Given the description of an element on the screen output the (x, y) to click on. 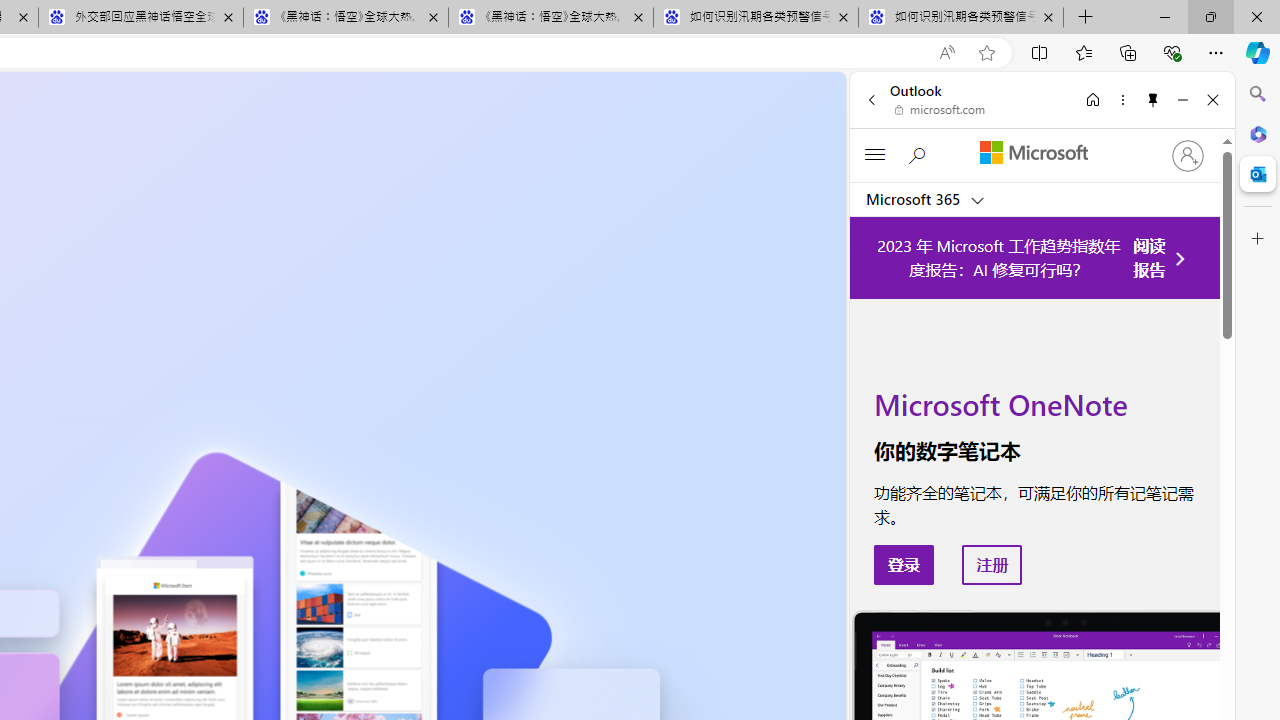
Microsoft (1033, 153)
Unpin side pane (1153, 99)
